Given the description of an element on the screen output the (x, y) to click on. 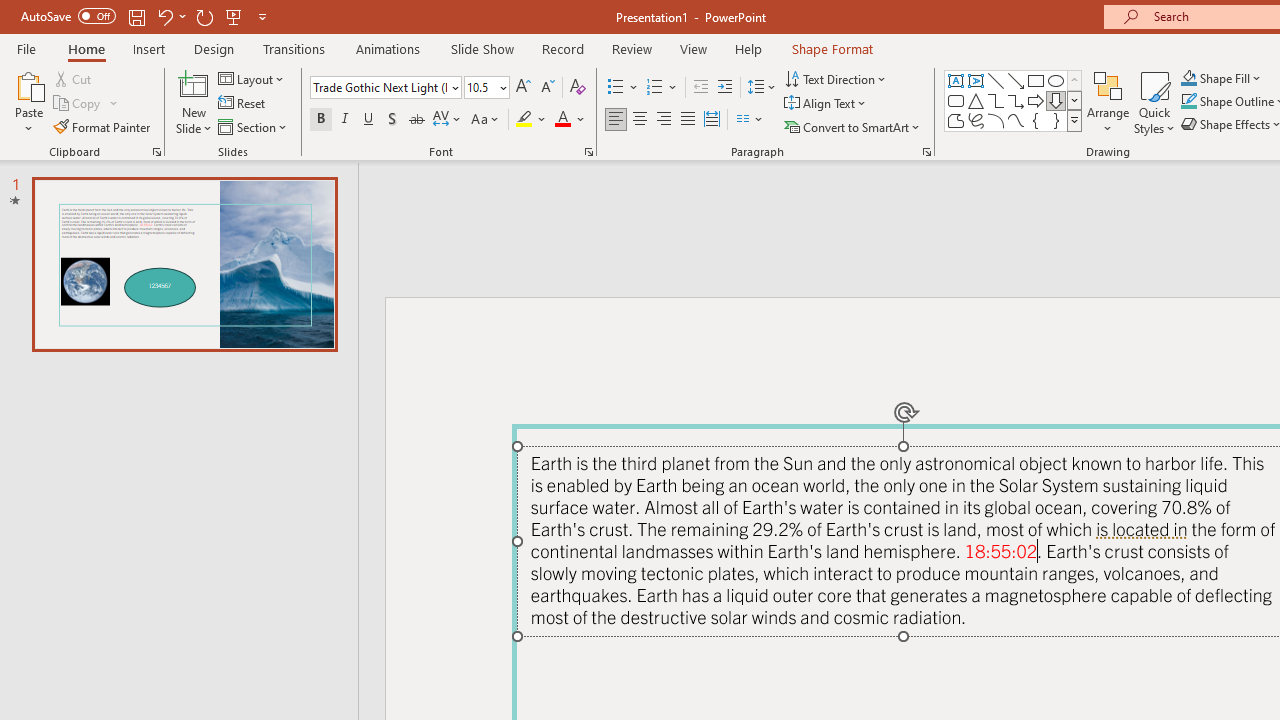
Paste (28, 102)
Oval (1055, 80)
Numbering (661, 87)
Columns (750, 119)
Convert to SmartArt (853, 126)
Quick Styles (1154, 102)
Underline (369, 119)
Arc (995, 120)
Character Spacing (447, 119)
Arrow: Down (1055, 100)
Bullets (623, 87)
